Given the description of an element on the screen output the (x, y) to click on. 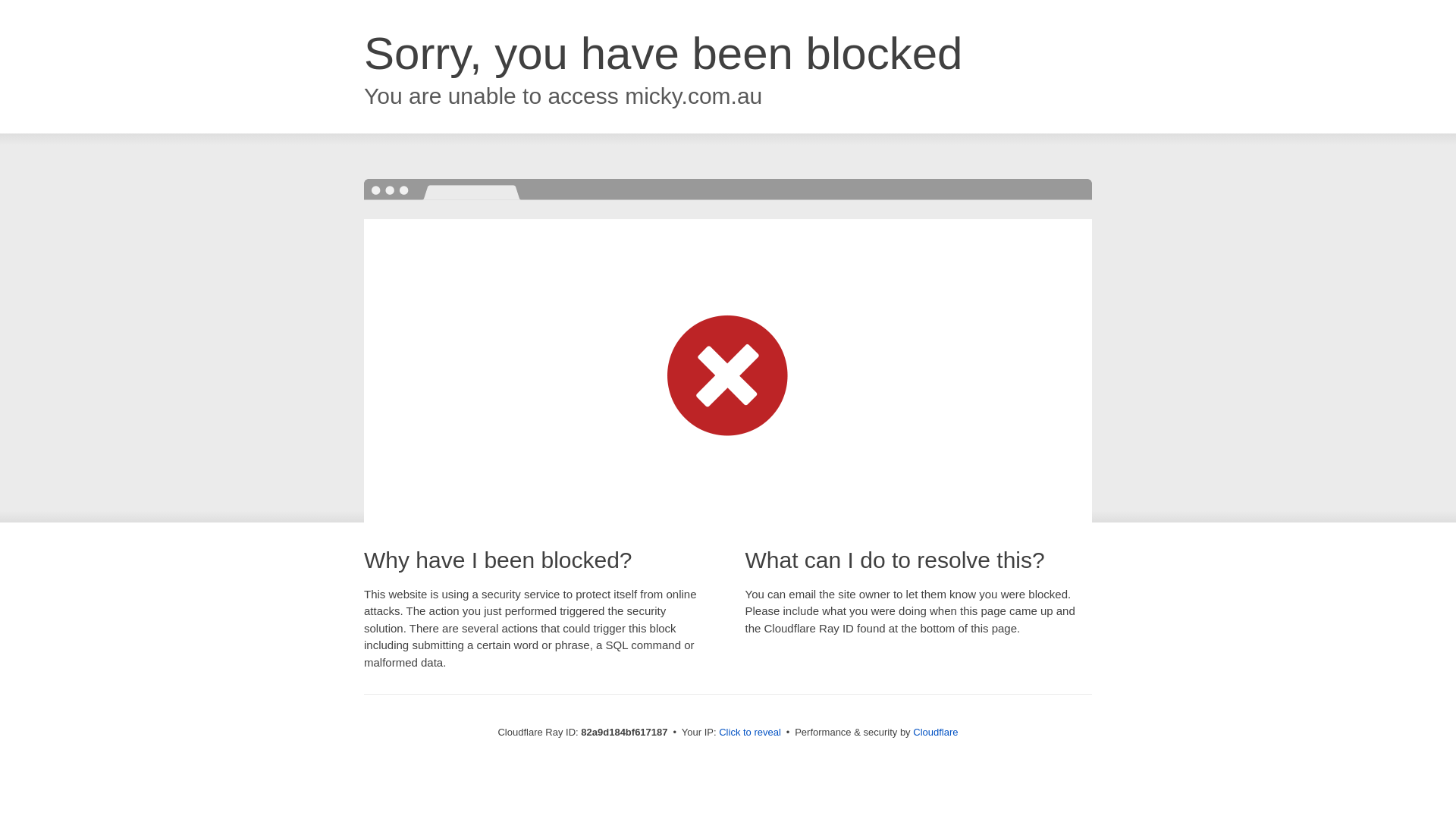
Cloudflare Element type: text (935, 731)
Click to reveal Element type: text (749, 732)
